Given the description of an element on the screen output the (x, y) to click on. 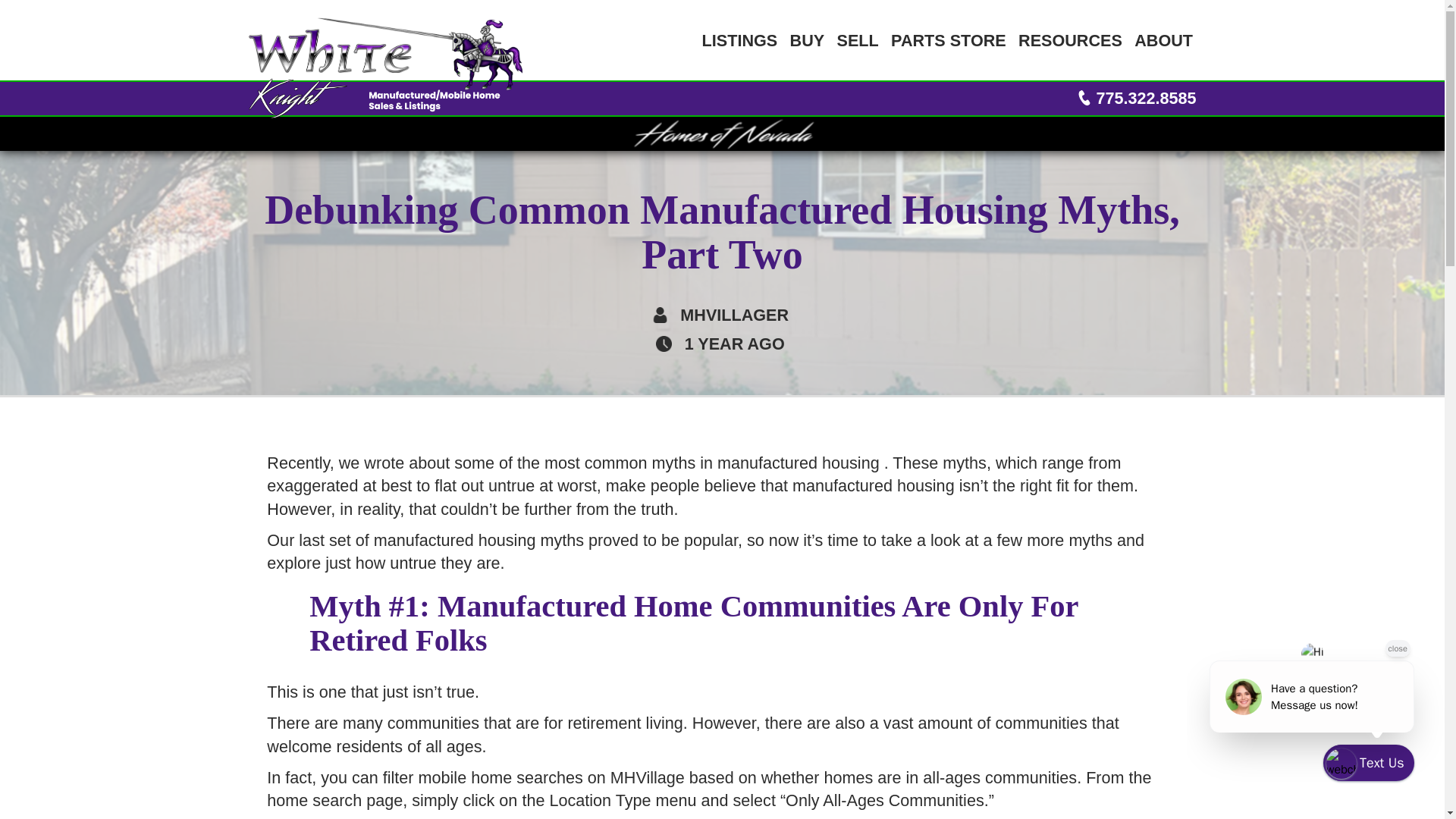
LISTINGS (739, 40)
